Given the description of an element on the screen output the (x, y) to click on. 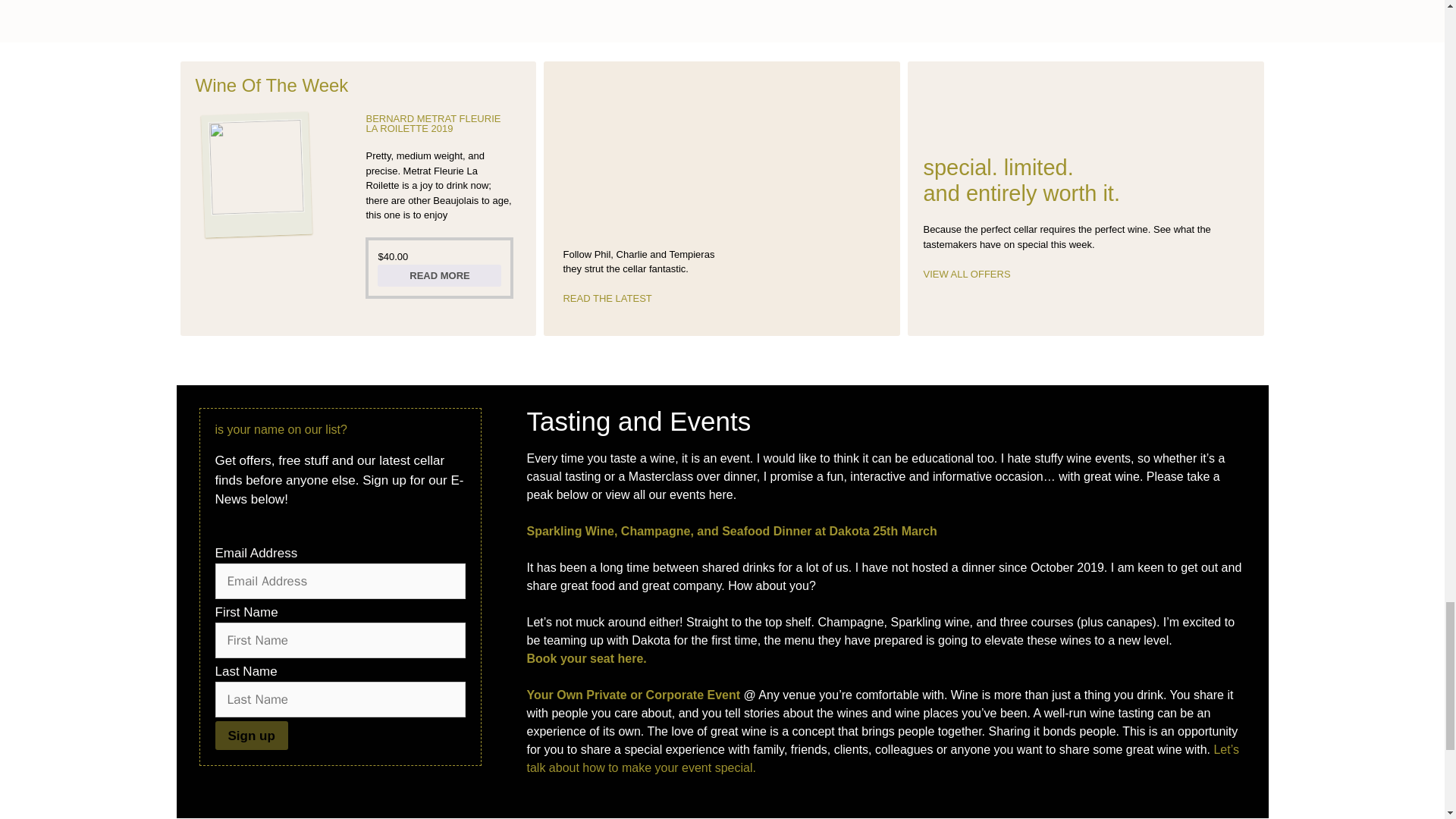
Blog (606, 297)
Current Offers (966, 274)
Sign up (251, 735)
